Given the description of an element on the screen output the (x, y) to click on. 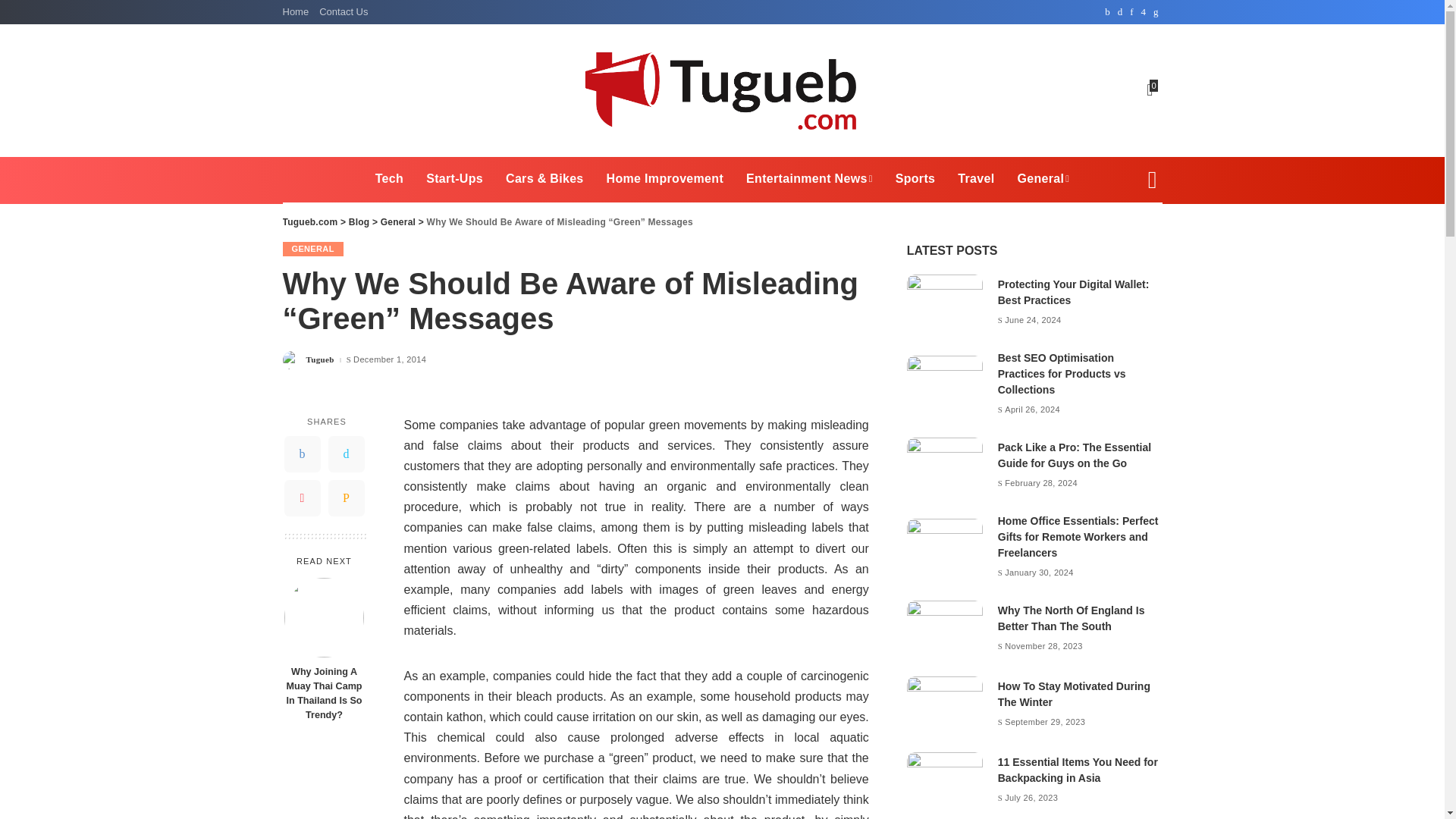
Home Improvement (665, 179)
Go to the General Category archives. (397, 222)
Tugueb.com (722, 90)
Go to Tugueb.com. (309, 222)
Entertainment News (809, 179)
Facebook (301, 453)
Go to Blog. (359, 222)
Start-Ups (454, 179)
Tech (389, 179)
Home (298, 12)
Contact Us (343, 12)
